Given the description of an element on the screen output the (x, y) to click on. 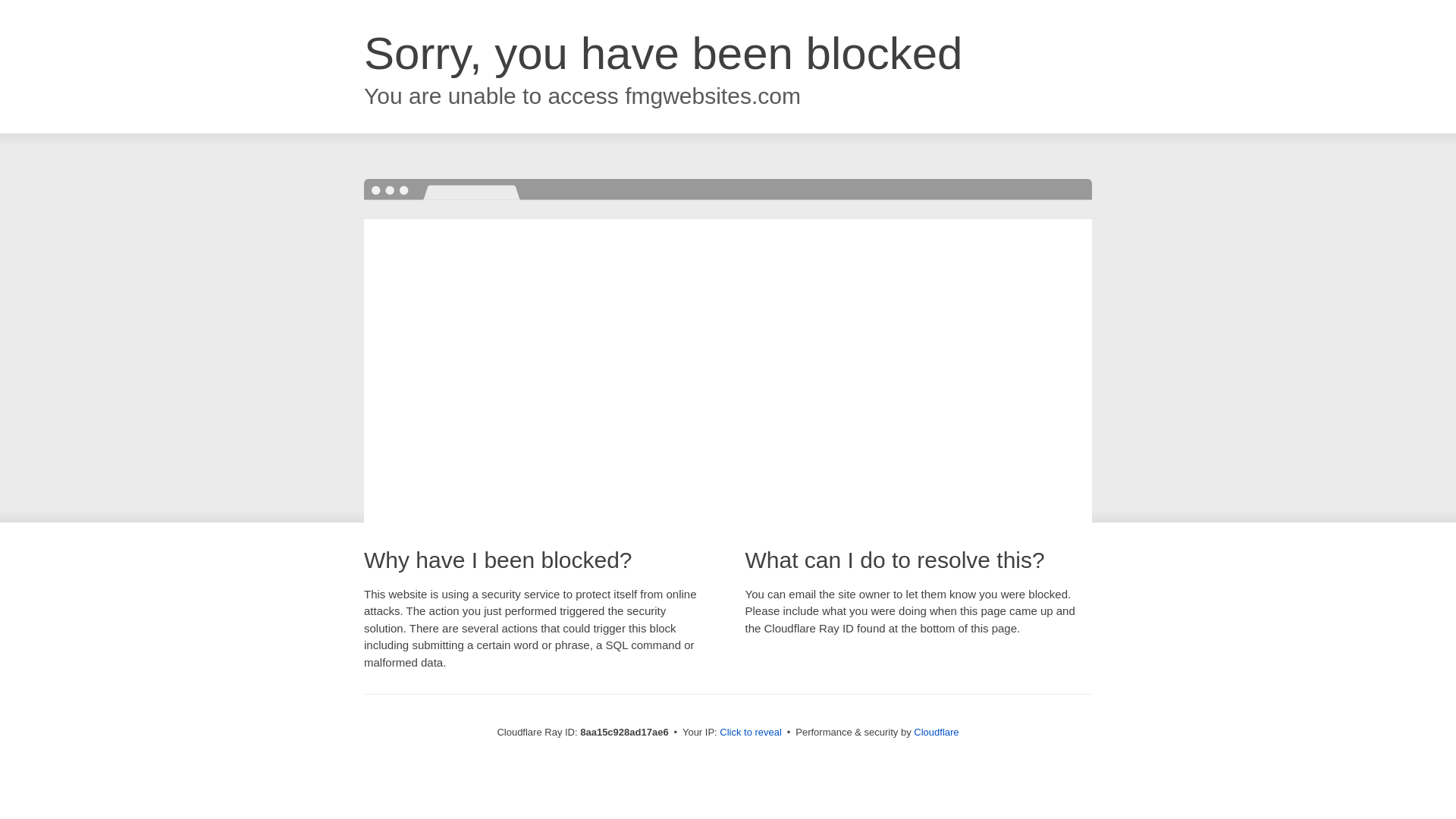
Cloudflare (936, 731)
Click to reveal (750, 732)
